Given the description of an element on the screen output the (x, y) to click on. 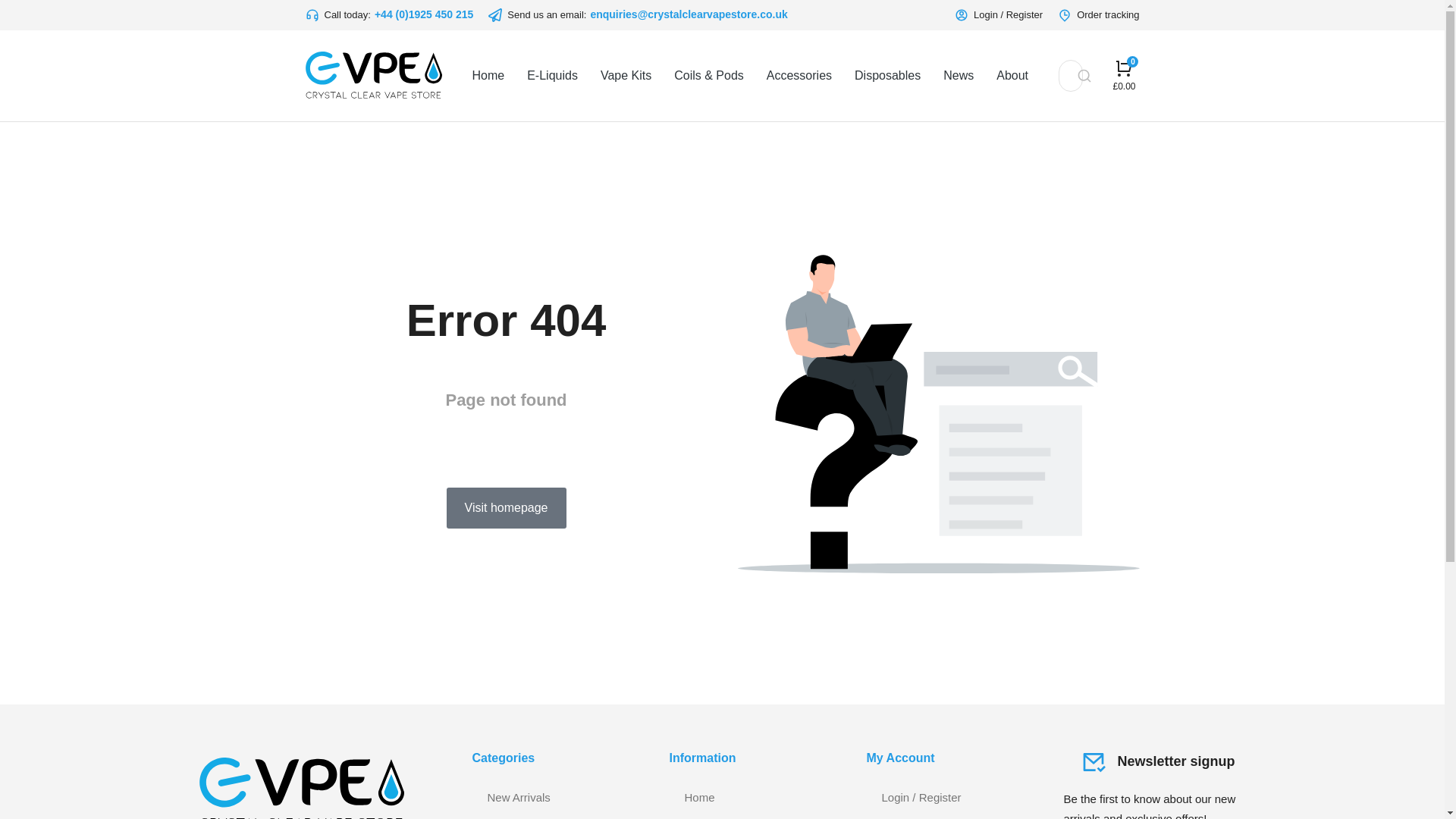
Accessories (799, 75)
Send us an email: (536, 15)
E-Liquids (552, 75)
Call today: (336, 15)
Vape Kits (624, 75)
About (1011, 75)
Disposables (887, 75)
Order tracking (1098, 15)
Home (487, 75)
News (958, 75)
